Given the description of an element on the screen output the (x, y) to click on. 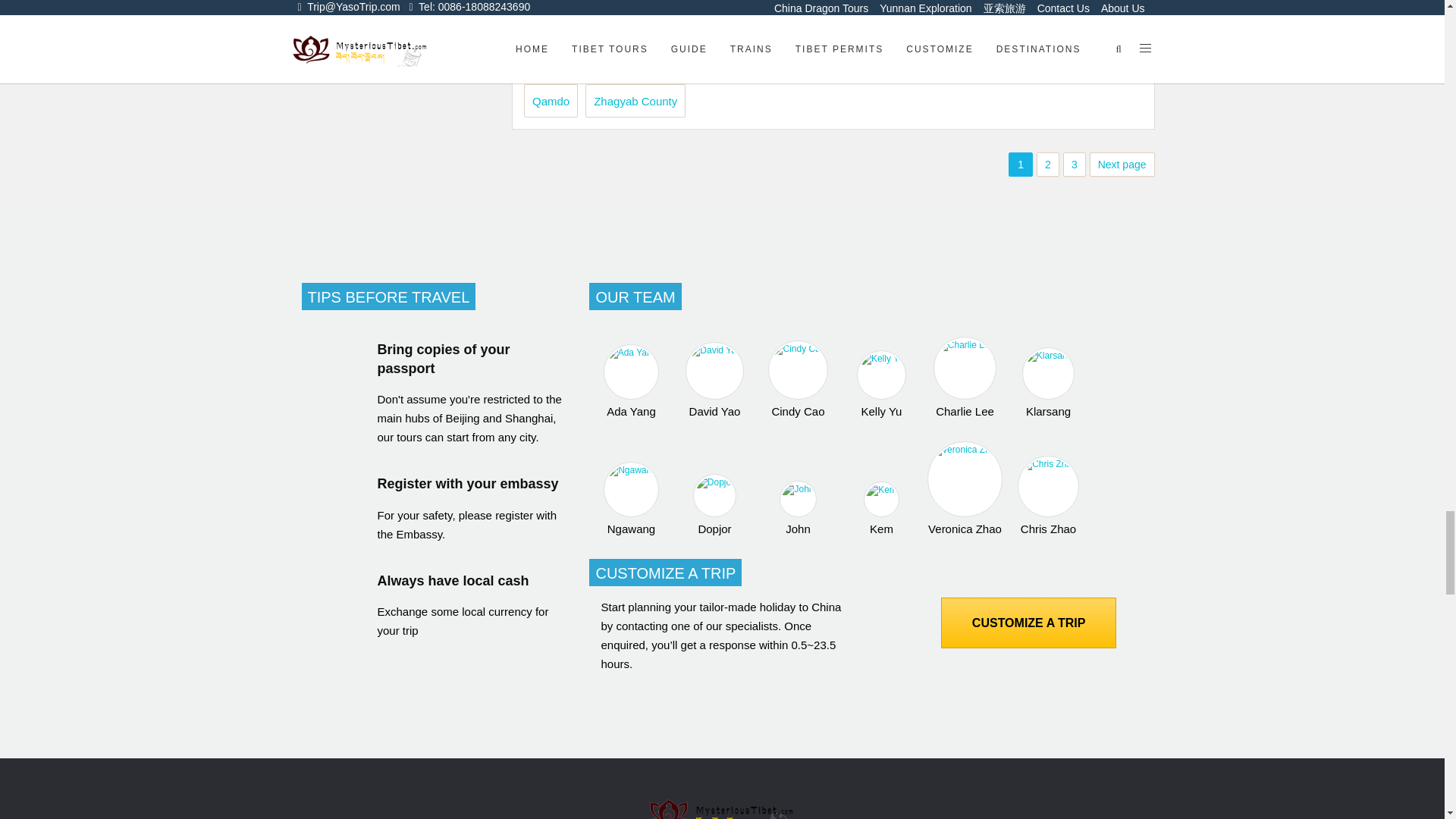
David Yao (713, 380)
Dopjor (713, 505)
Charlie Lee (964, 377)
Ada Yang (630, 381)
Chris Zhao (1047, 495)
Kem (881, 508)
Cindy Cao (797, 379)
Ngawang (630, 498)
Klarsang (1047, 382)
Kelly Yu (881, 384)
